Given the description of an element on the screen output the (x, y) to click on. 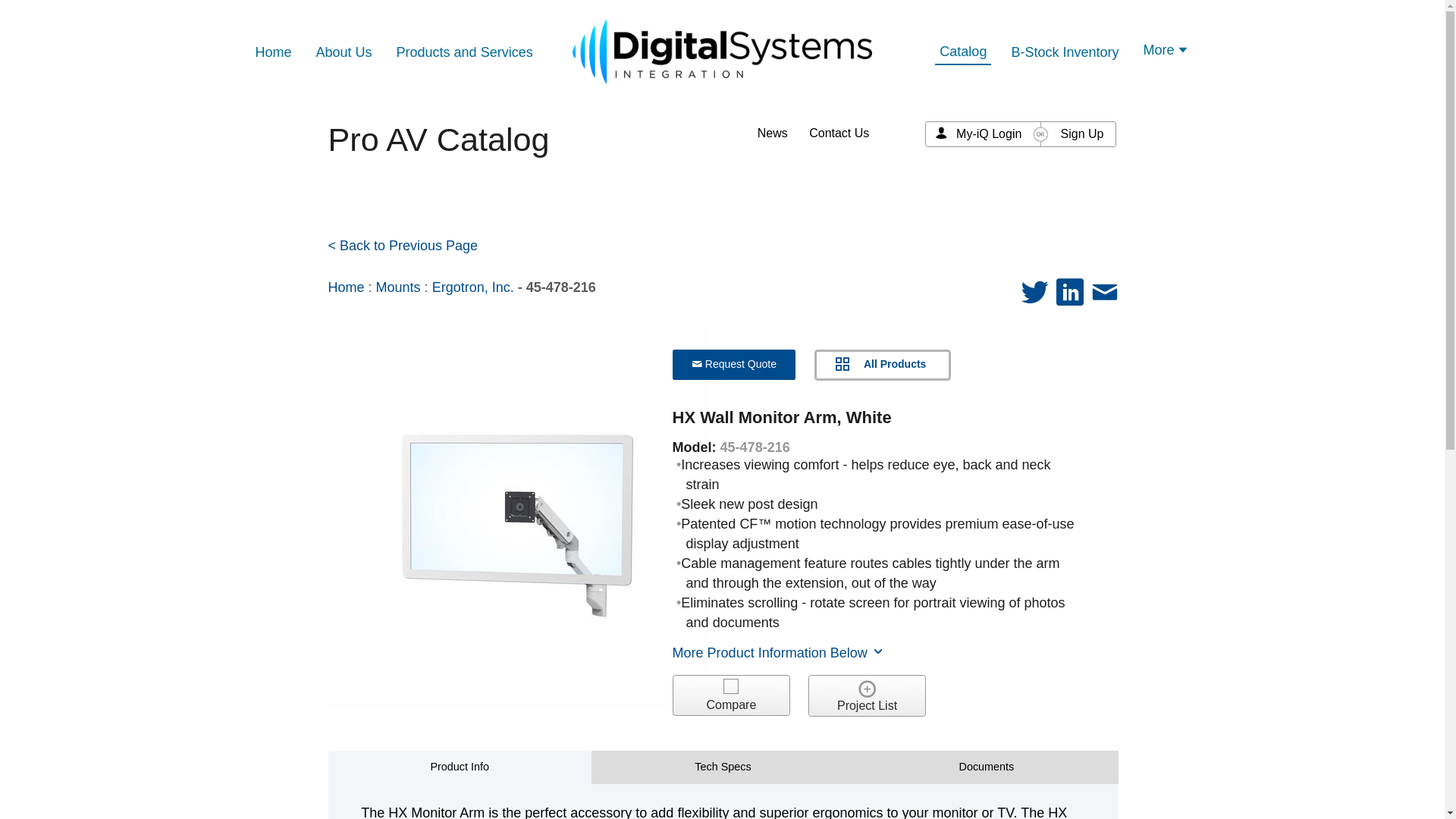
News (772, 132)
About Us (343, 53)
Home (272, 51)
B-Stock Inventory (1064, 51)
Home (345, 287)
Mounts (397, 287)
Sign Up (1082, 133)
My-iQ Login (989, 133)
More (1165, 51)
Catalog (962, 51)
Products and Services (464, 51)
Contact Us (839, 132)
